Given the description of an element on the screen output the (x, y) to click on. 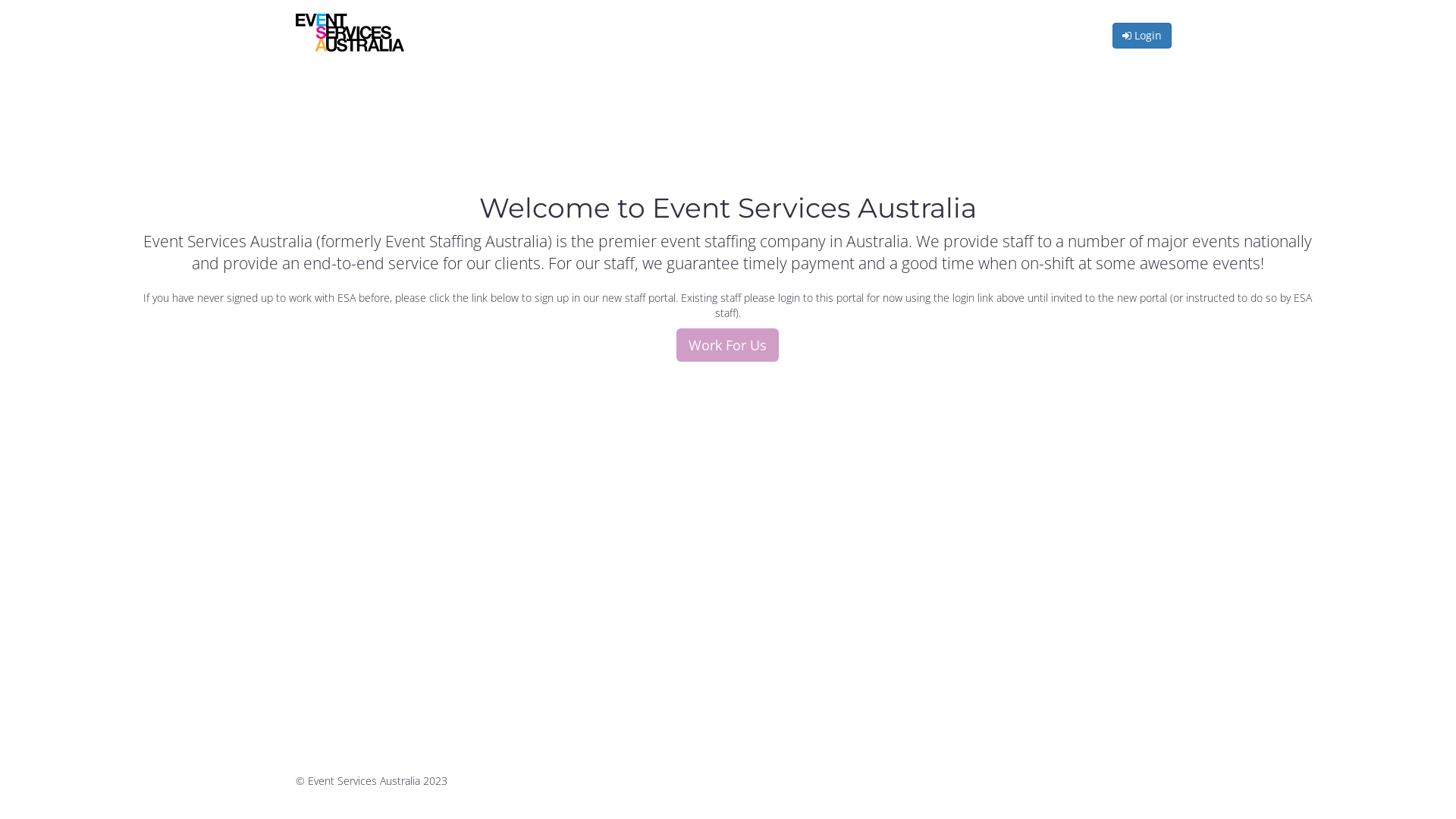
Login Element type: text (1141, 35)
Work For Us Element type: text (727, 344)
